Given the description of an element on the screen output the (x, y) to click on. 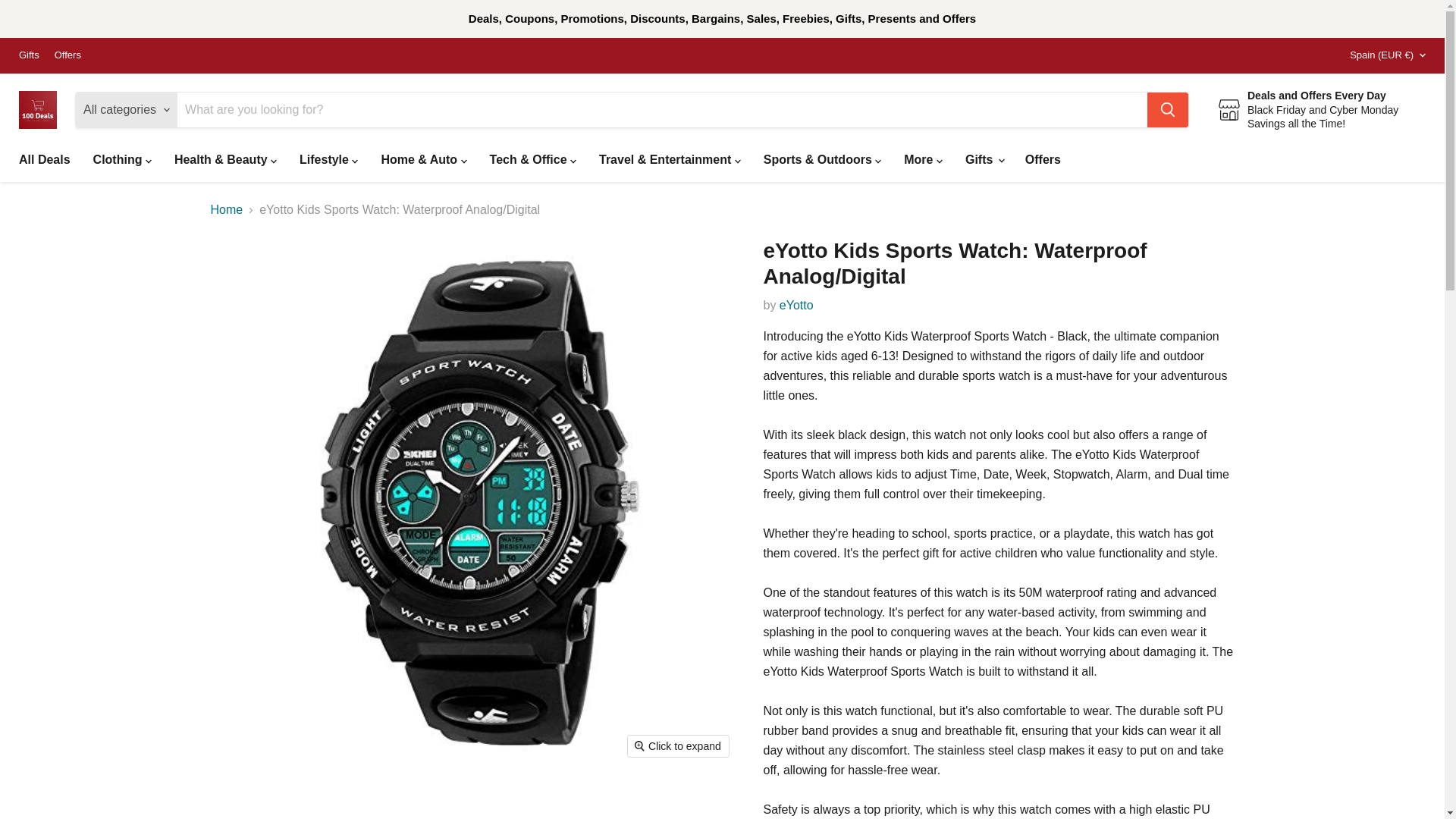
eYotto (795, 305)
Offers (68, 55)
Gifts (28, 55)
